Given the description of an element on the screen output the (x, y) to click on. 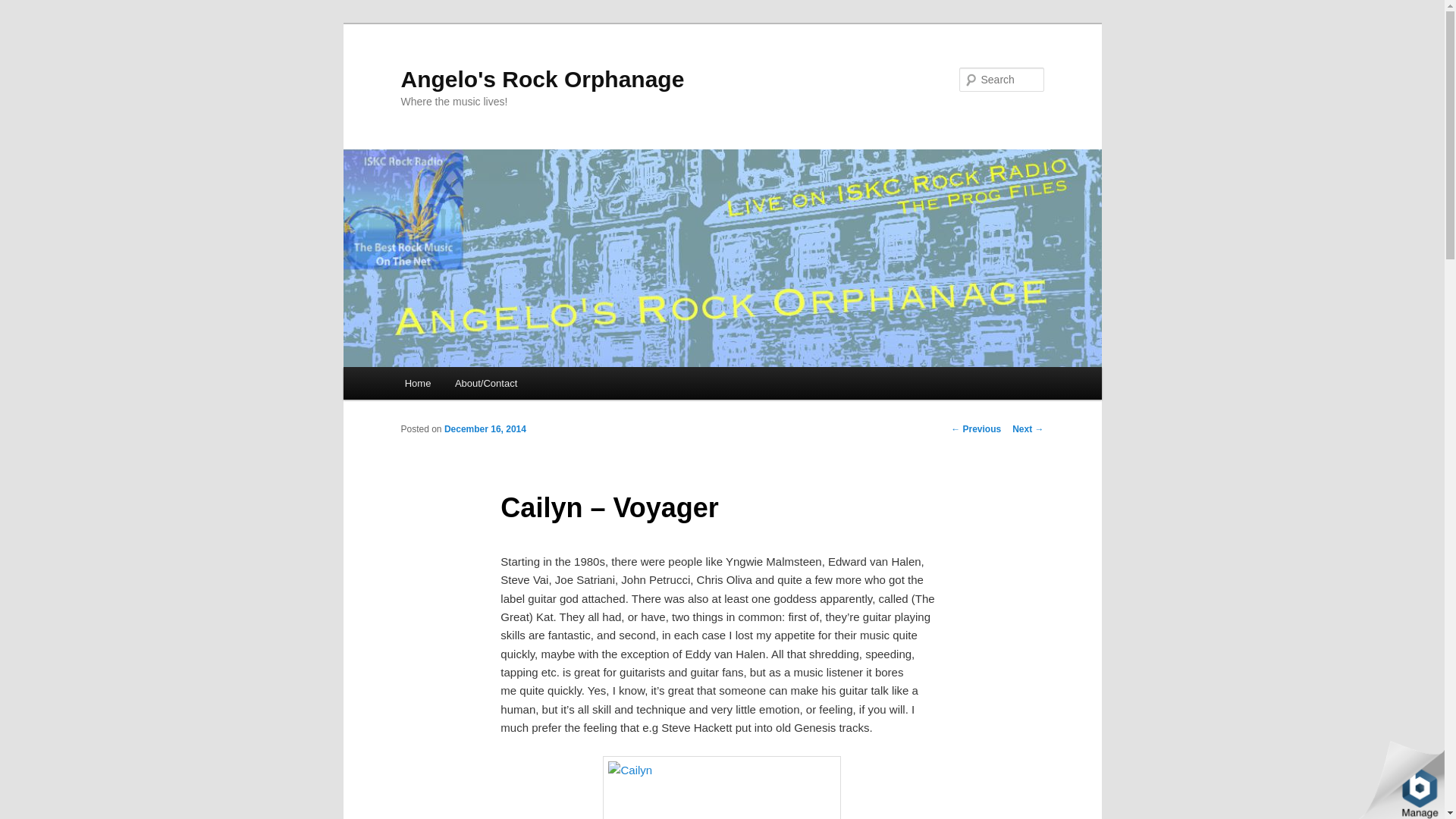
Search (24, 8)
December 16, 2014 (484, 429)
Angelo's Rock Orphanage (542, 78)
12:23 am (484, 429)
Home (417, 382)
